Given the description of an element on the screen output the (x, y) to click on. 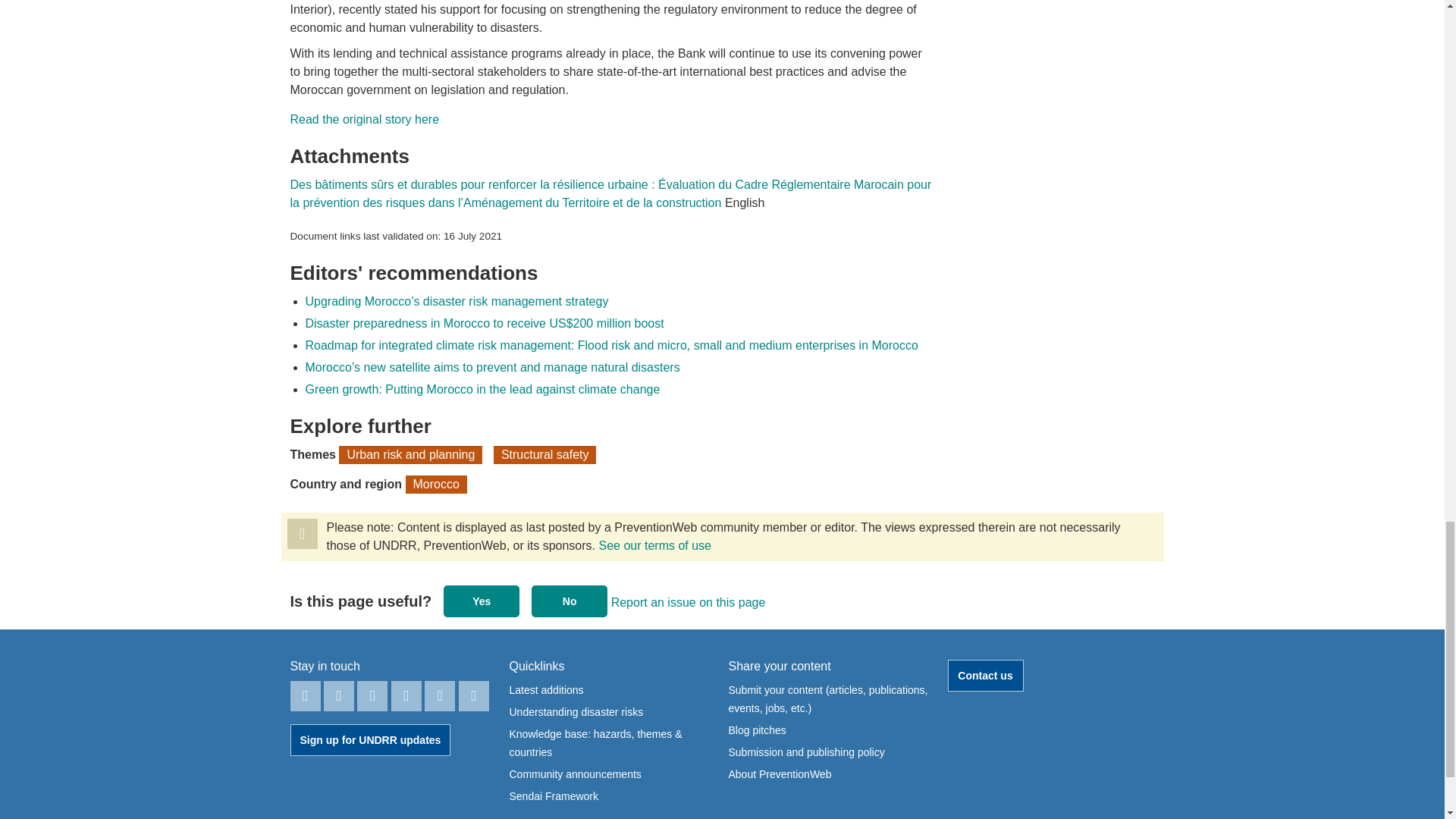
Read the original story here (364, 119)
